Given the description of an element on the screen output the (x, y) to click on. 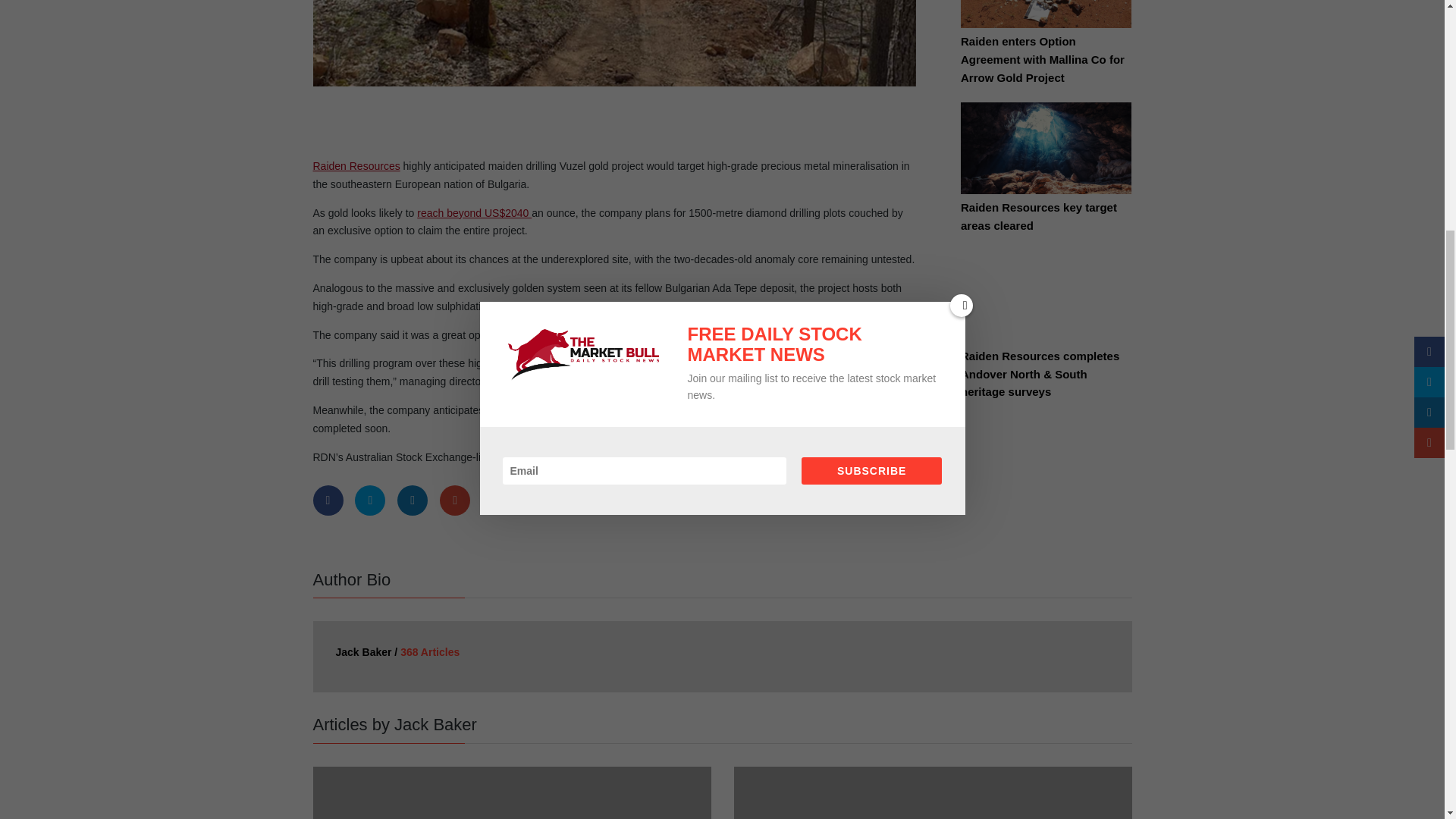
Raiden Resources key target areas cleared (1045, 158)
